Given the description of an element on the screen output the (x, y) to click on. 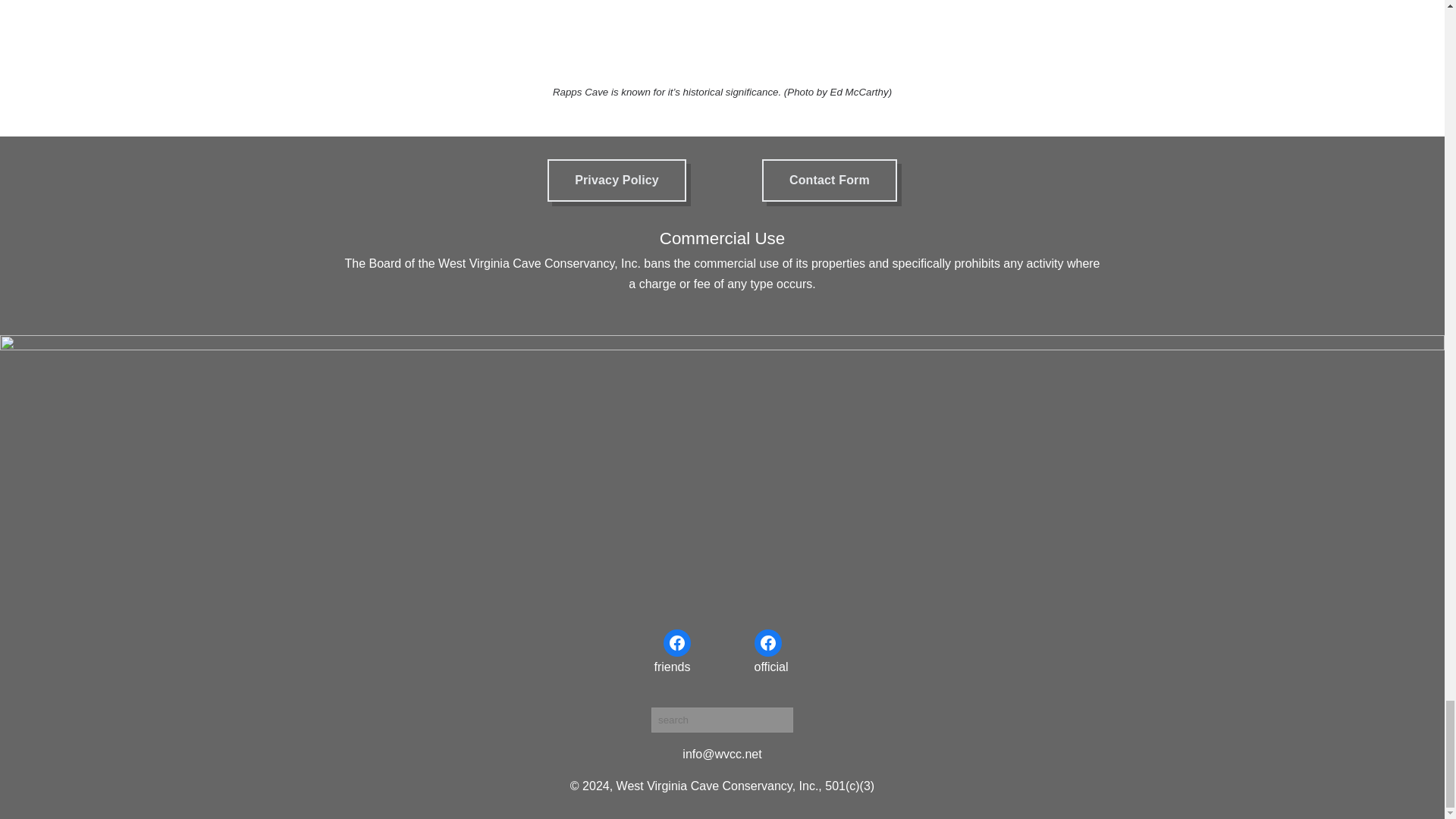
Facebook (676, 642)
Contact Form (828, 179)
Facebook (767, 642)
Privacy Policy (616, 179)
